Given the description of an element on the screen output the (x, y) to click on. 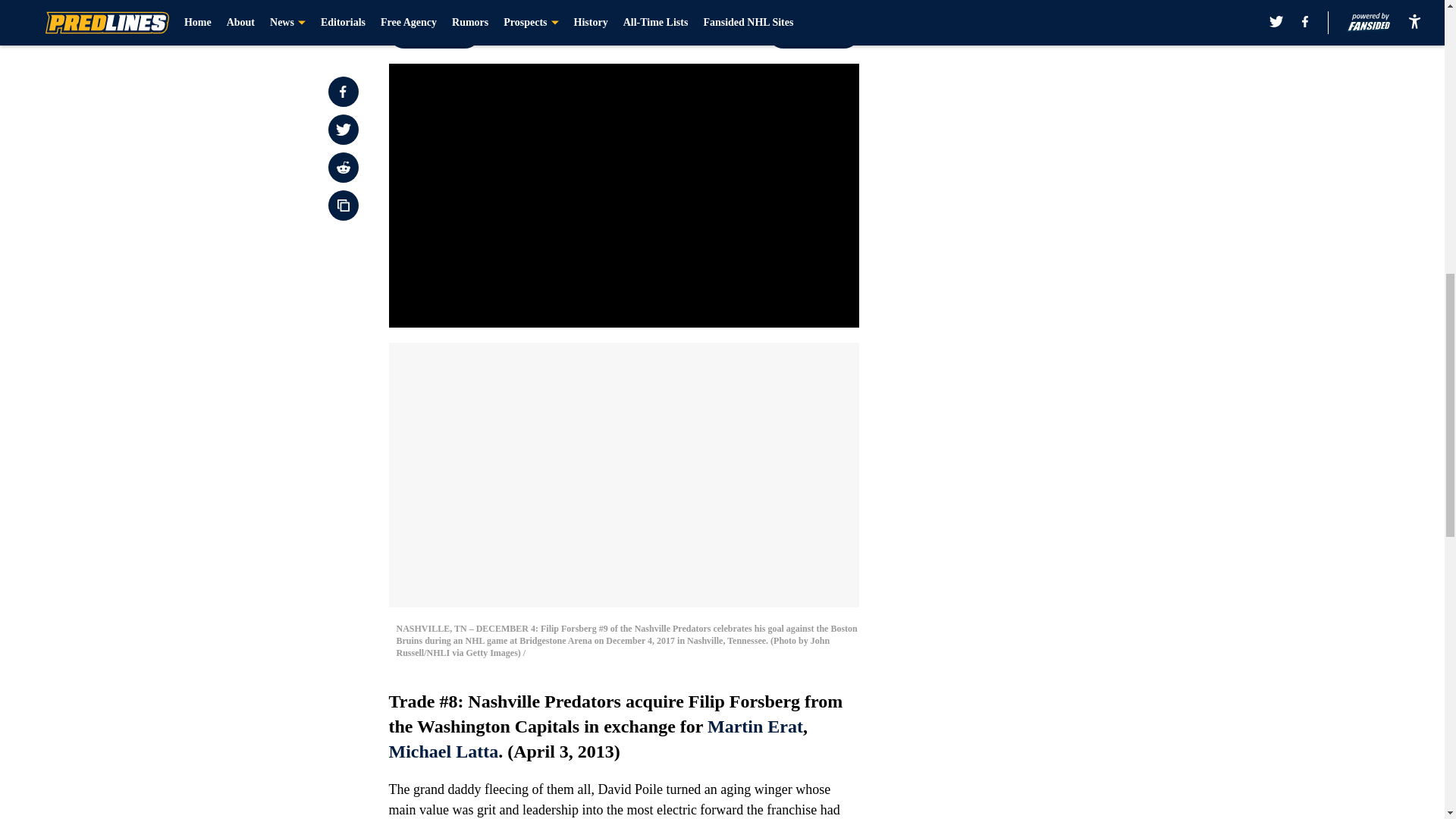
Martin Erat (755, 726)
Prev (433, 33)
Michael Latta (442, 751)
Next (813, 33)
